Given the description of an element on the screen output the (x, y) to click on. 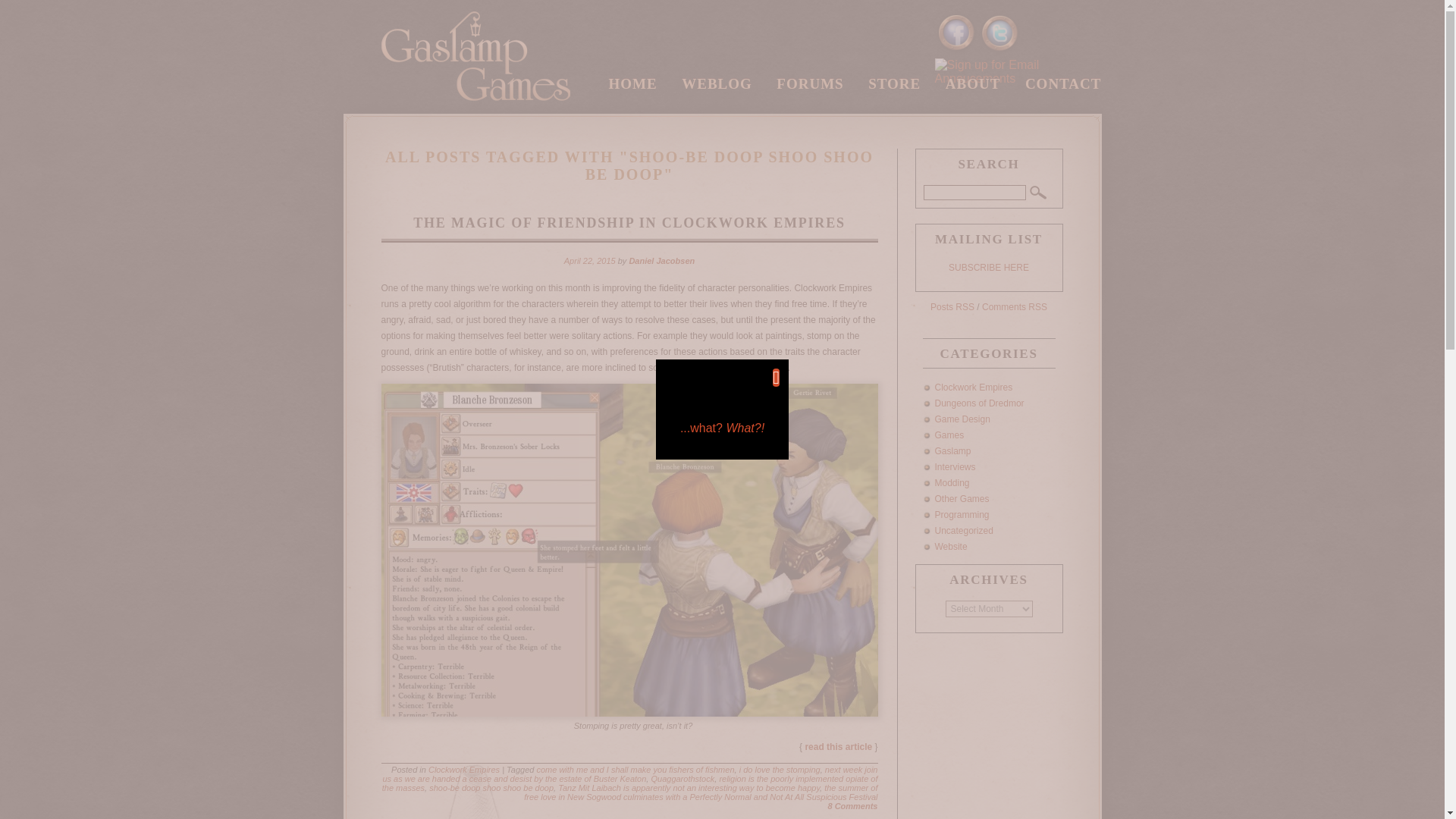
Quaggarothstock (682, 777)
STORE (893, 86)
come with me and I shall make you fishers of fishmen (634, 768)
1:56 pm (589, 260)
Other Games (961, 498)
Uncategorized (963, 530)
Games (948, 434)
religion is the poorly implemented opiate of the masses (629, 782)
Like us on Facebook (955, 33)
FORUMS (809, 86)
HOME (632, 86)
Gaslamp (952, 450)
Follow us on Twitter (1000, 33)
shoo-be doop shoo shoo be doop (491, 787)
WEBLOG (716, 86)
